Given the description of an element on the screen output the (x, y) to click on. 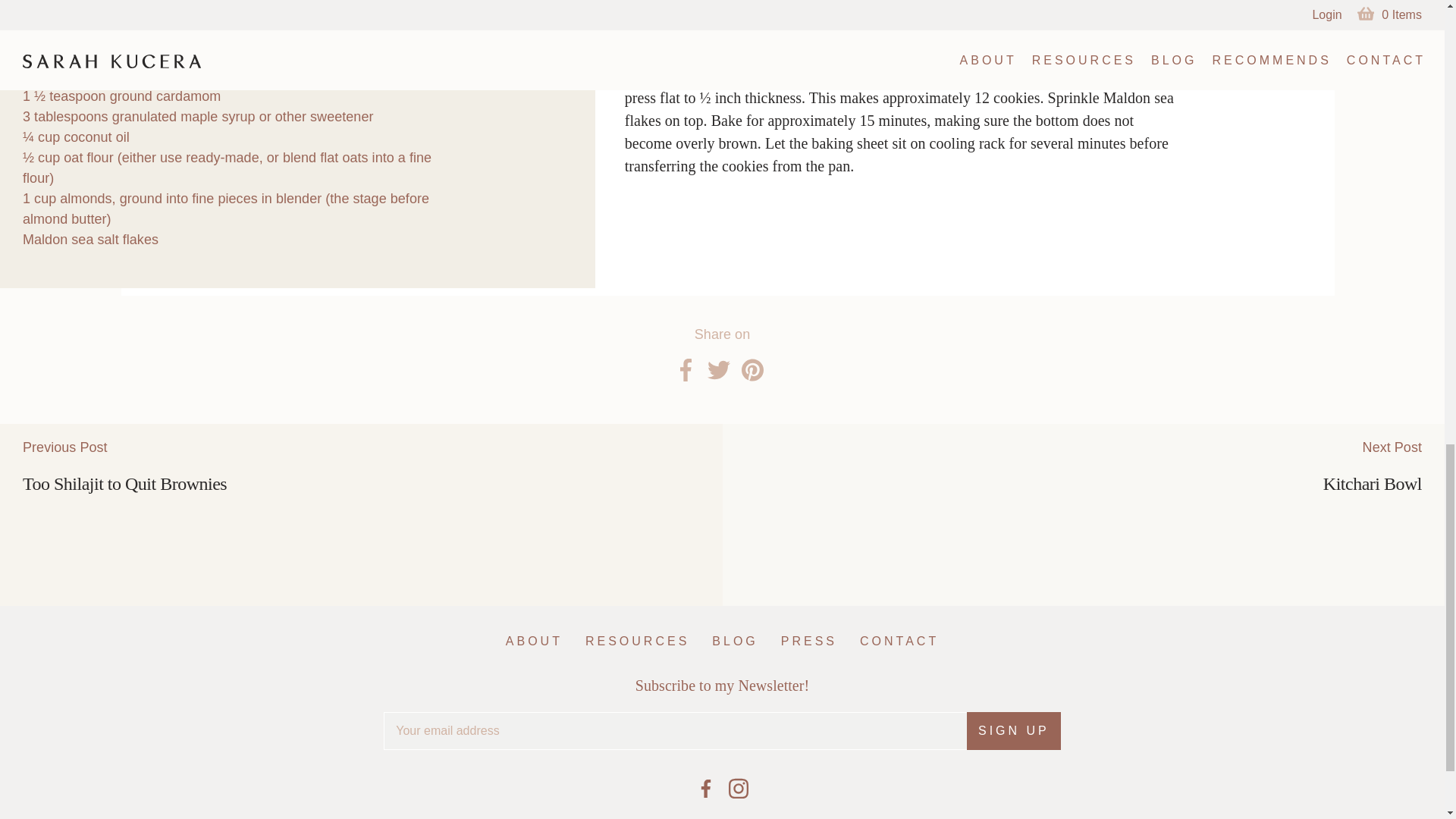
Previous Post: Too Shilajit to Quit Brownies (361, 515)
RESOURCES (636, 641)
Sign up (1013, 730)
Sign up (361, 515)
Save this post on Pinterest (1013, 730)
Share this post on Twitter (752, 369)
BLOG (717, 369)
PRESS (734, 641)
ABOUT (809, 641)
CONTACT (534, 641)
